Given the description of an element on the screen output the (x, y) to click on. 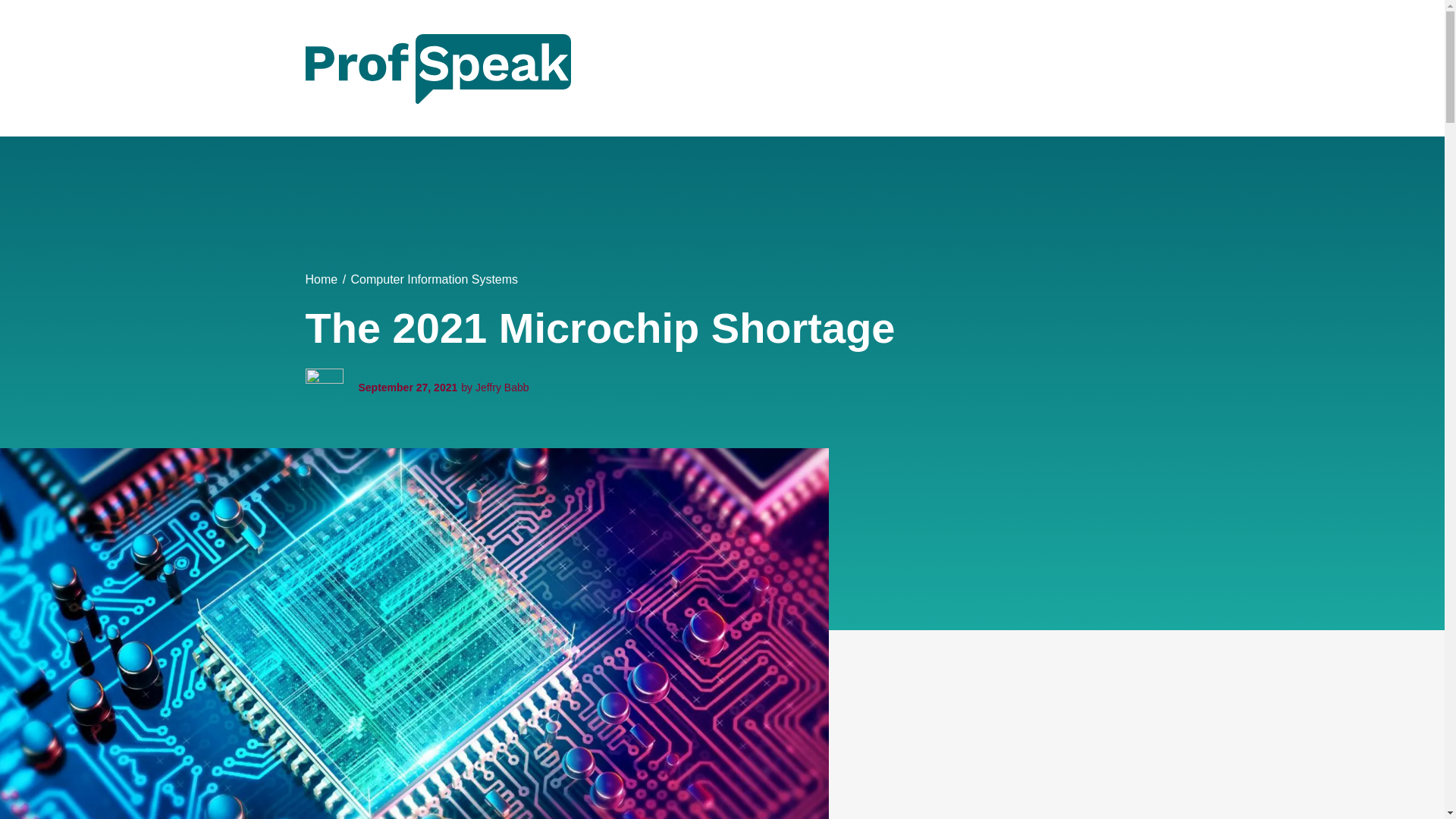
Jeffry Babb (502, 387)
Computer Information Systems (434, 278)
Home (320, 278)
